Given the description of an element on the screen output the (x, y) to click on. 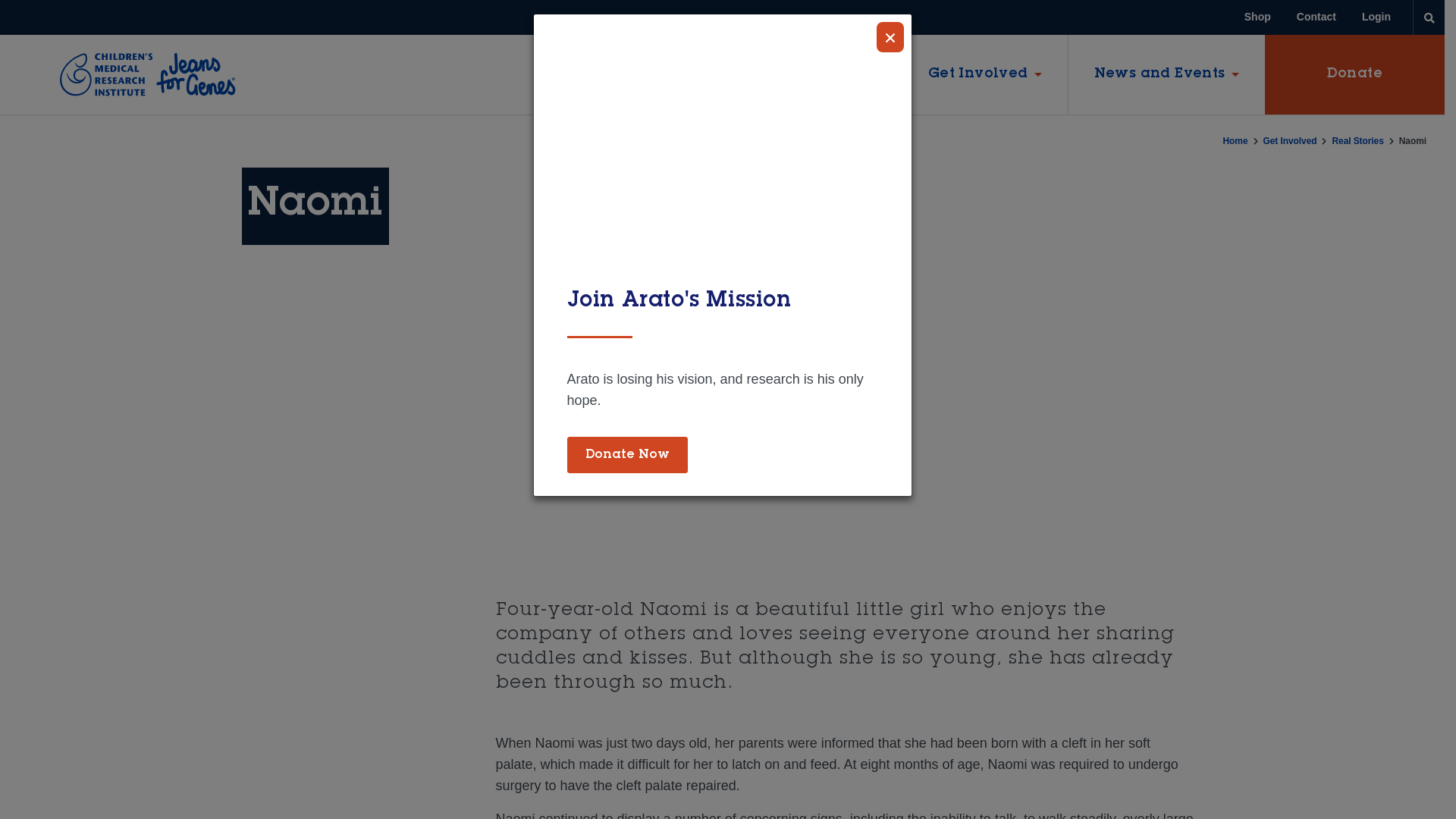
Login Element type: text (1376, 17)
Donate Now Element type: text (627, 454)
Contact Element type: text (1315, 17)
Get Involved Element type: text (1290, 140)
About Element type: text (708, 74)
Research Element type: text (833, 74)
News and Events Element type: text (1166, 74)
Donate Element type: text (1354, 74)
Real Stories Element type: text (1357, 140)
Home Element type: text (1235, 140)
Get Involved Element type: text (984, 74)
Shop Element type: text (1257, 17)
